Given the description of an element on the screen output the (x, y) to click on. 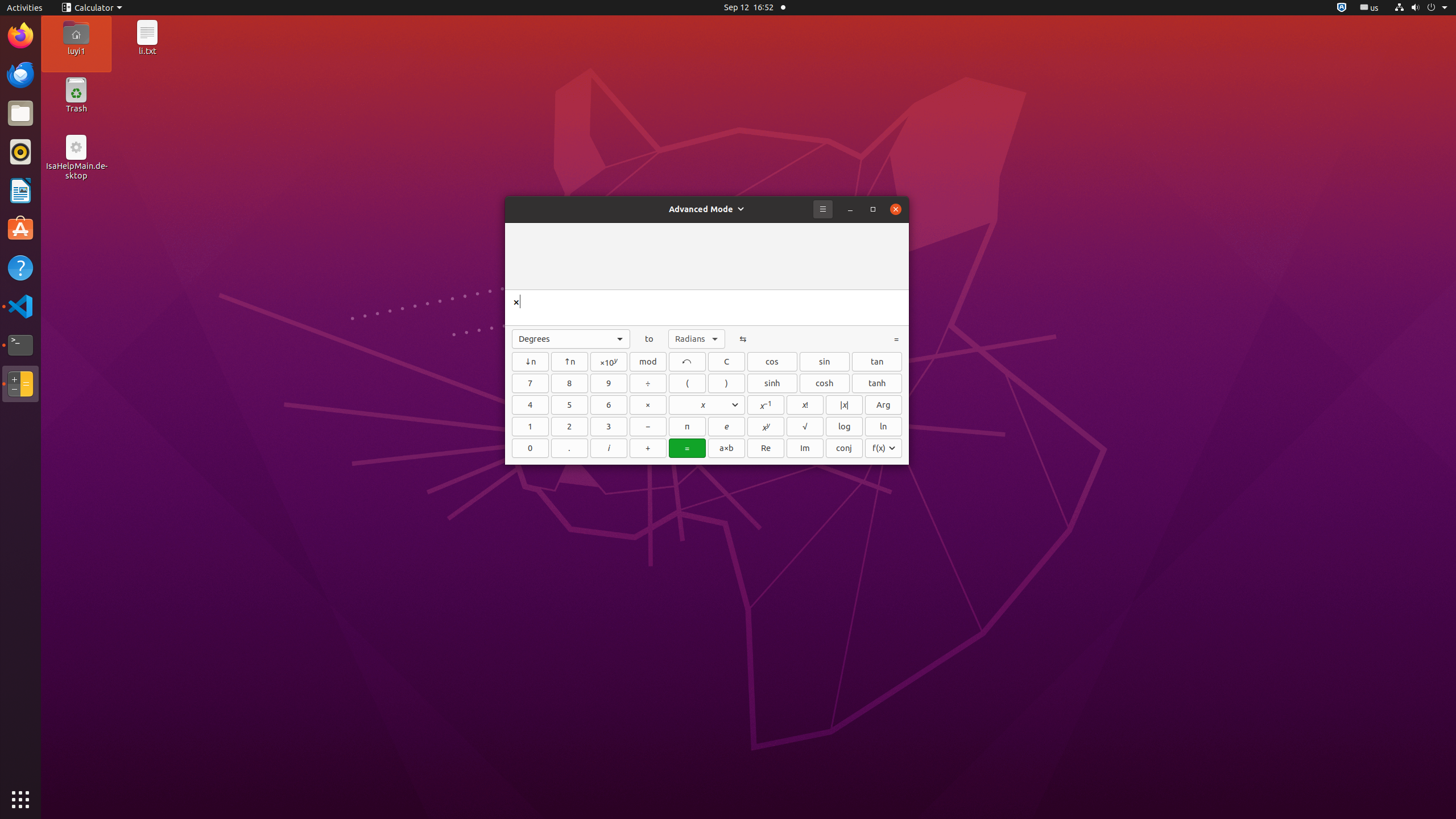
1 Element type: push-button (529, 426)
